Given the description of an element on the screen output the (x, y) to click on. 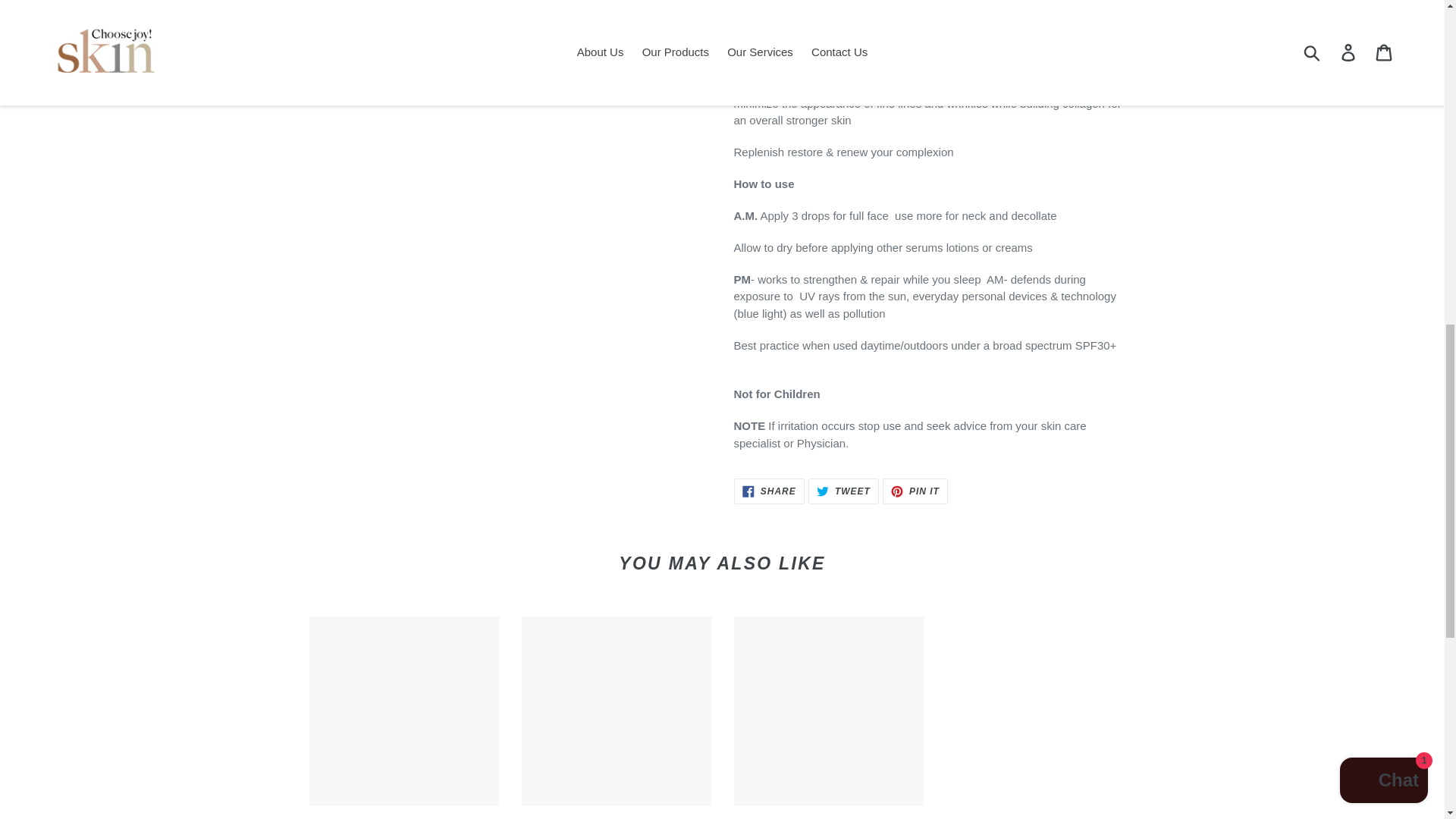
My Skin Buddy Boost (843, 491)
Luminous Peptide Serum (769, 491)
Sheer Berry Antioxidant Serum (403, 717)
